Given the description of an element on the screen output the (x, y) to click on. 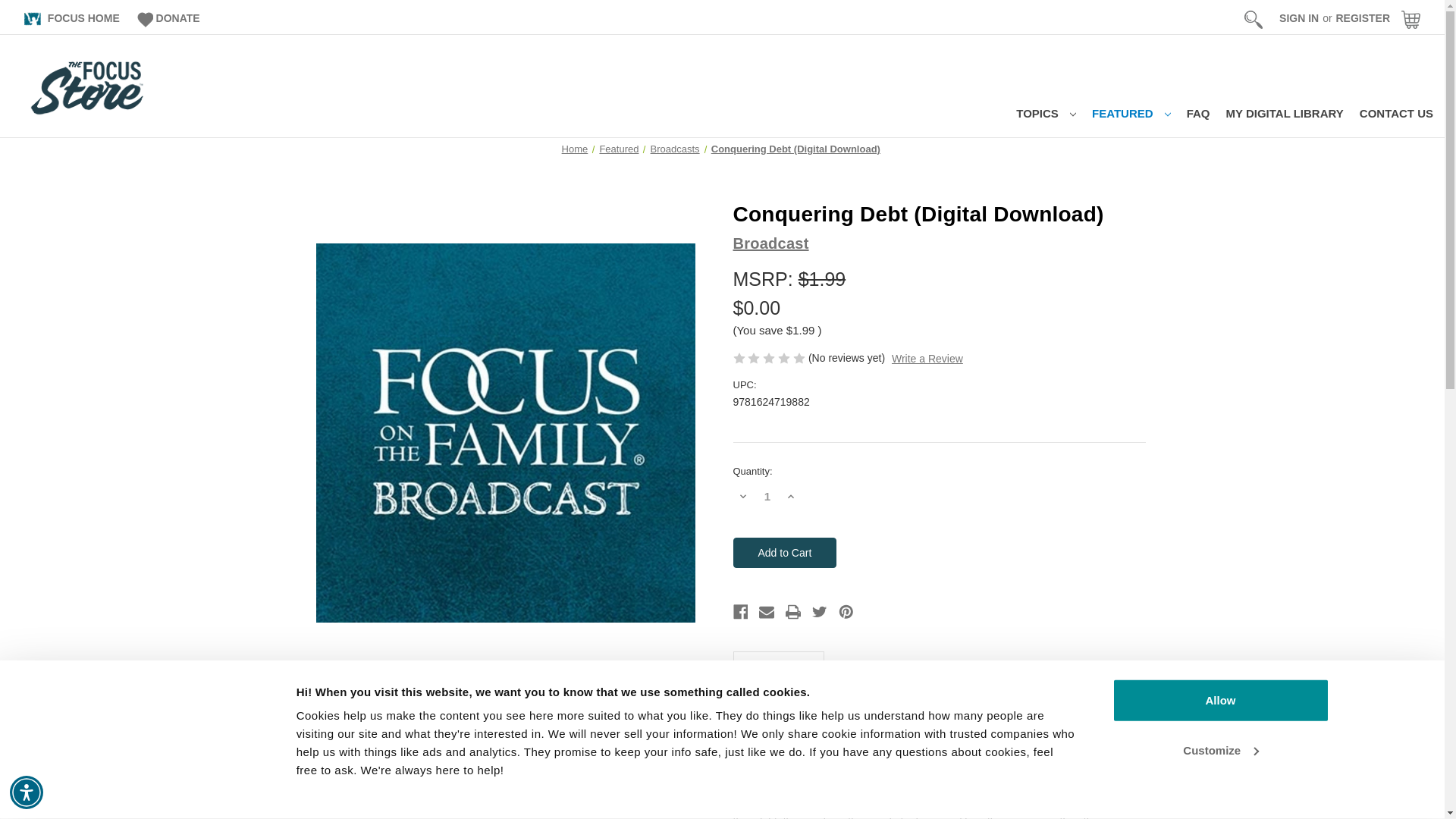
1 (767, 495)
Add to Cart (783, 552)
